Given the description of an element on the screen output the (x, y) to click on. 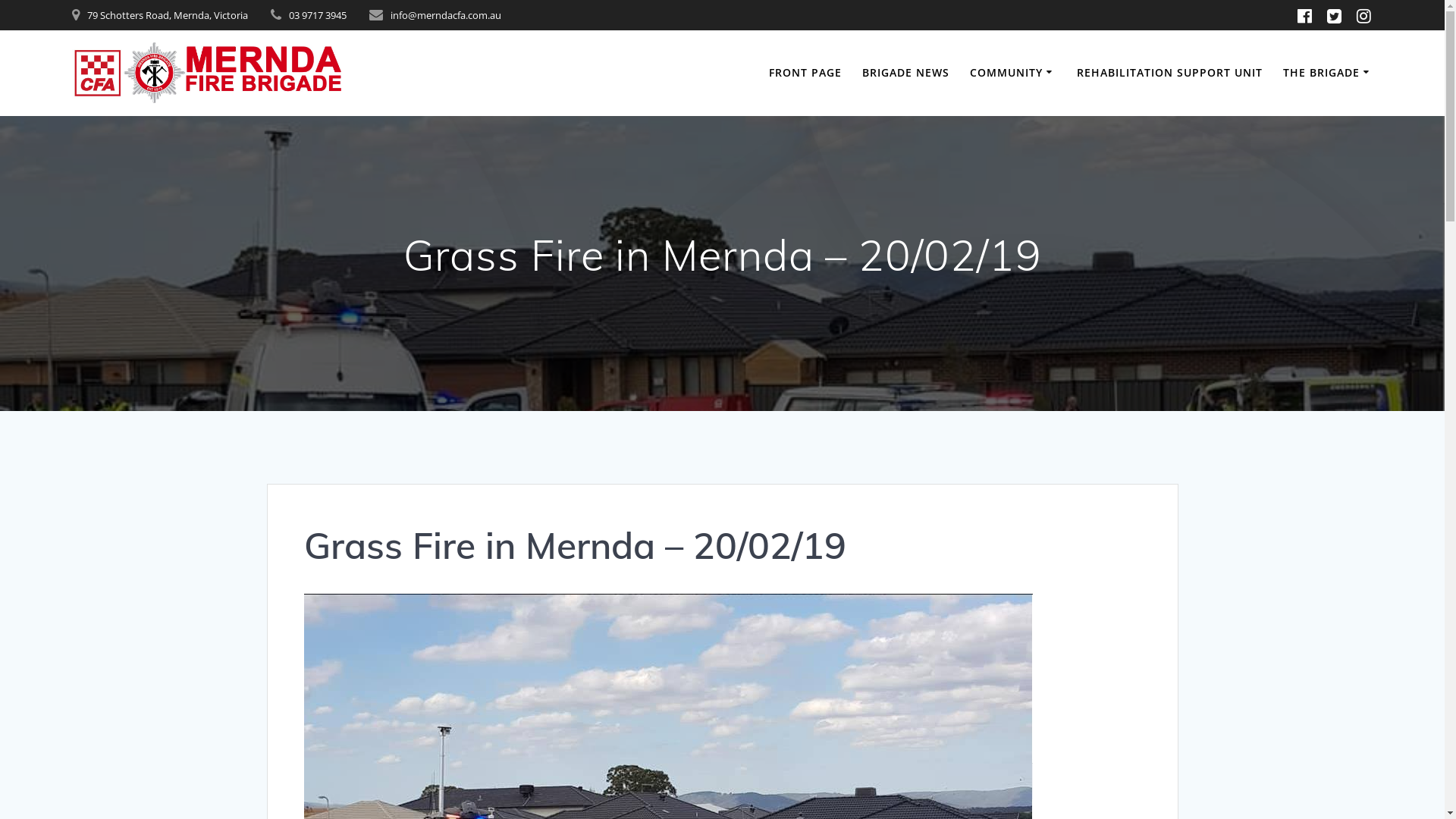
BRIGADE NEWS Element type: text (905, 72)
THE BRIGADE Element type: text (1328, 72)
FRONT PAGE Element type: text (804, 72)
REHABILITATION SUPPORT UNIT Element type: text (1169, 72)
COMMUNITY Element type: text (1012, 72)
